Given the description of an element on the screen output the (x, y) to click on. 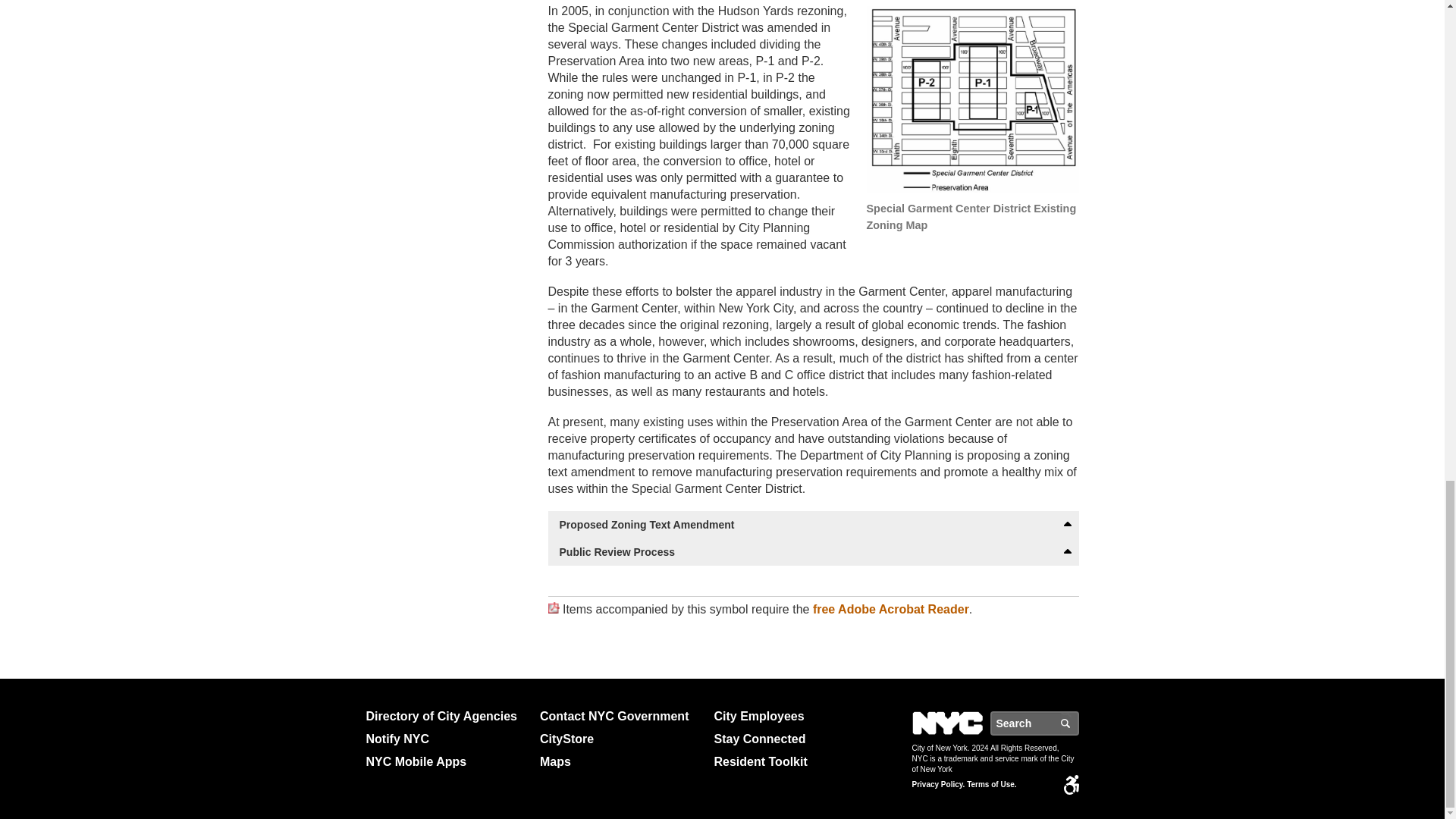
Proposed Zoning Text Amendment (812, 524)
Public Review Process (812, 551)
Terms of Use (991, 784)
Privacy Ploicy  (937, 784)
